Given the description of an element on the screen output the (x, y) to click on. 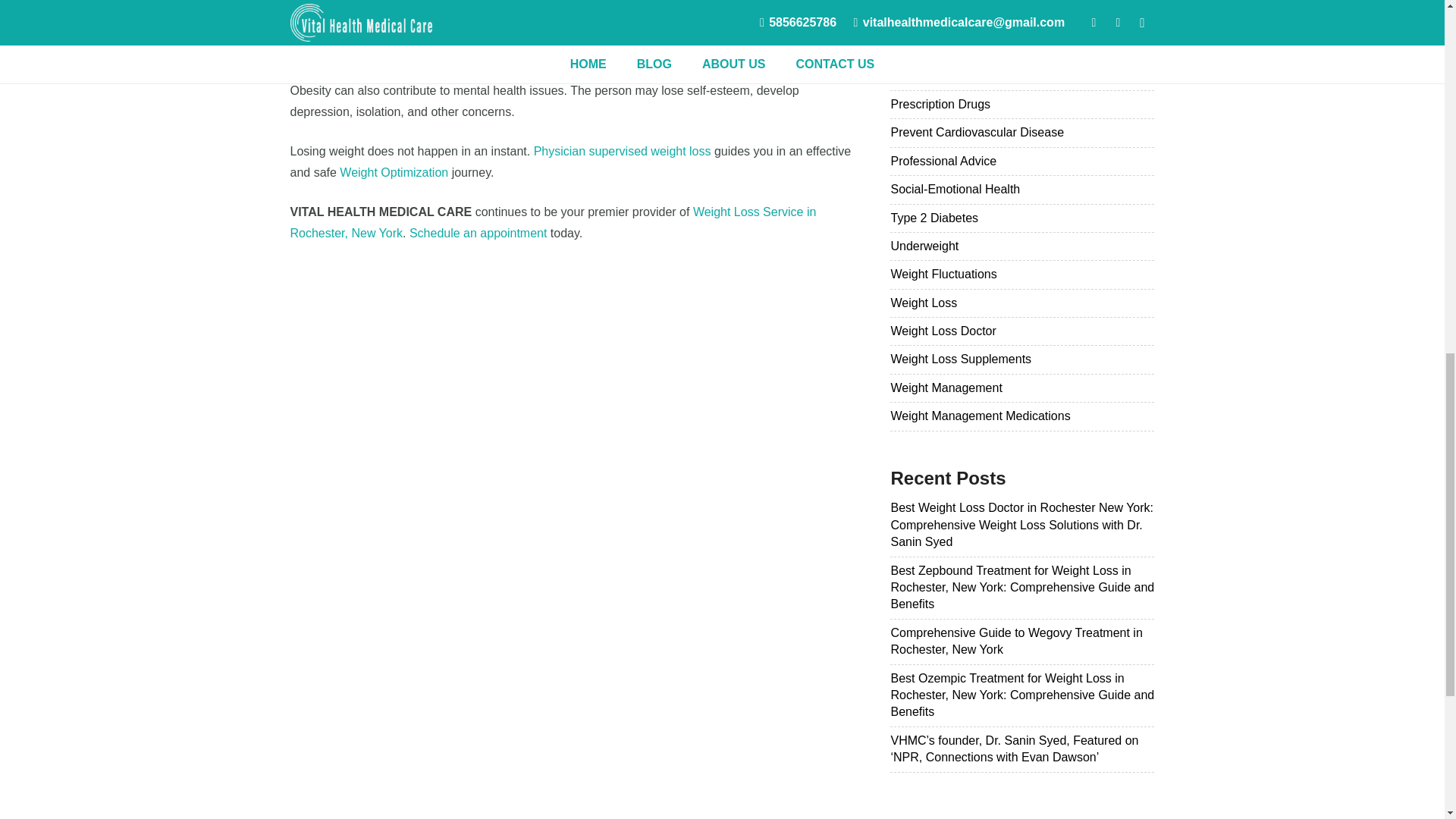
Back to top (1413, 30)
Physician supervised weight loss (622, 151)
Schedule an appointment (478, 232)
Weight Loss Service in Rochester, New York (552, 222)
Weight Optimization (393, 172)
